Given the description of an element on the screen output the (x, y) to click on. 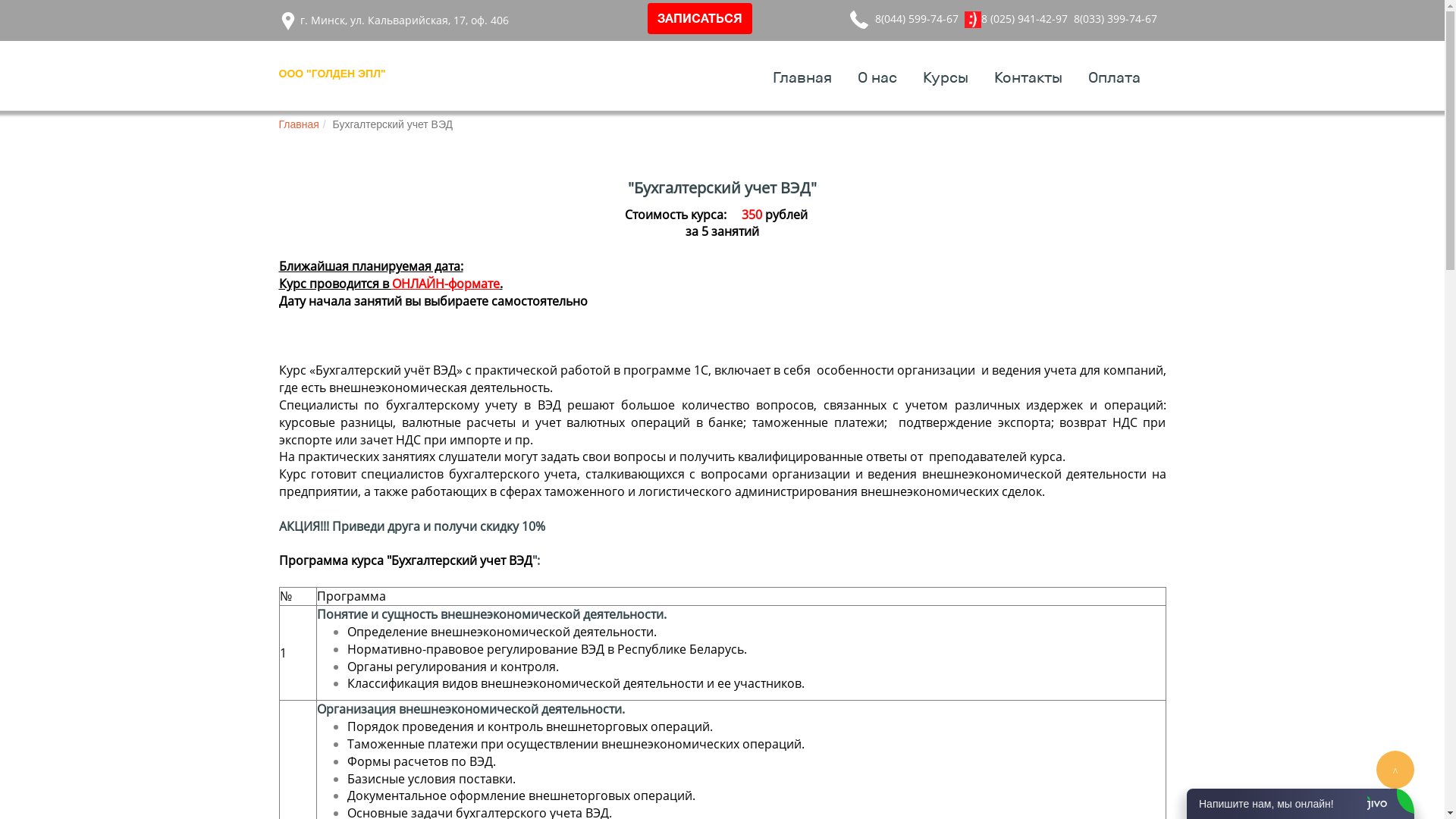
8(044) 599-74-67 Element type: text (916, 18)
8(033) 399-74-67 Element type: text (1115, 18)
^ Element type: text (1395, 769)
8 (025) 941-42-97 Element type: text (1024, 18)
